Given the description of an element on the screen output the (x, y) to click on. 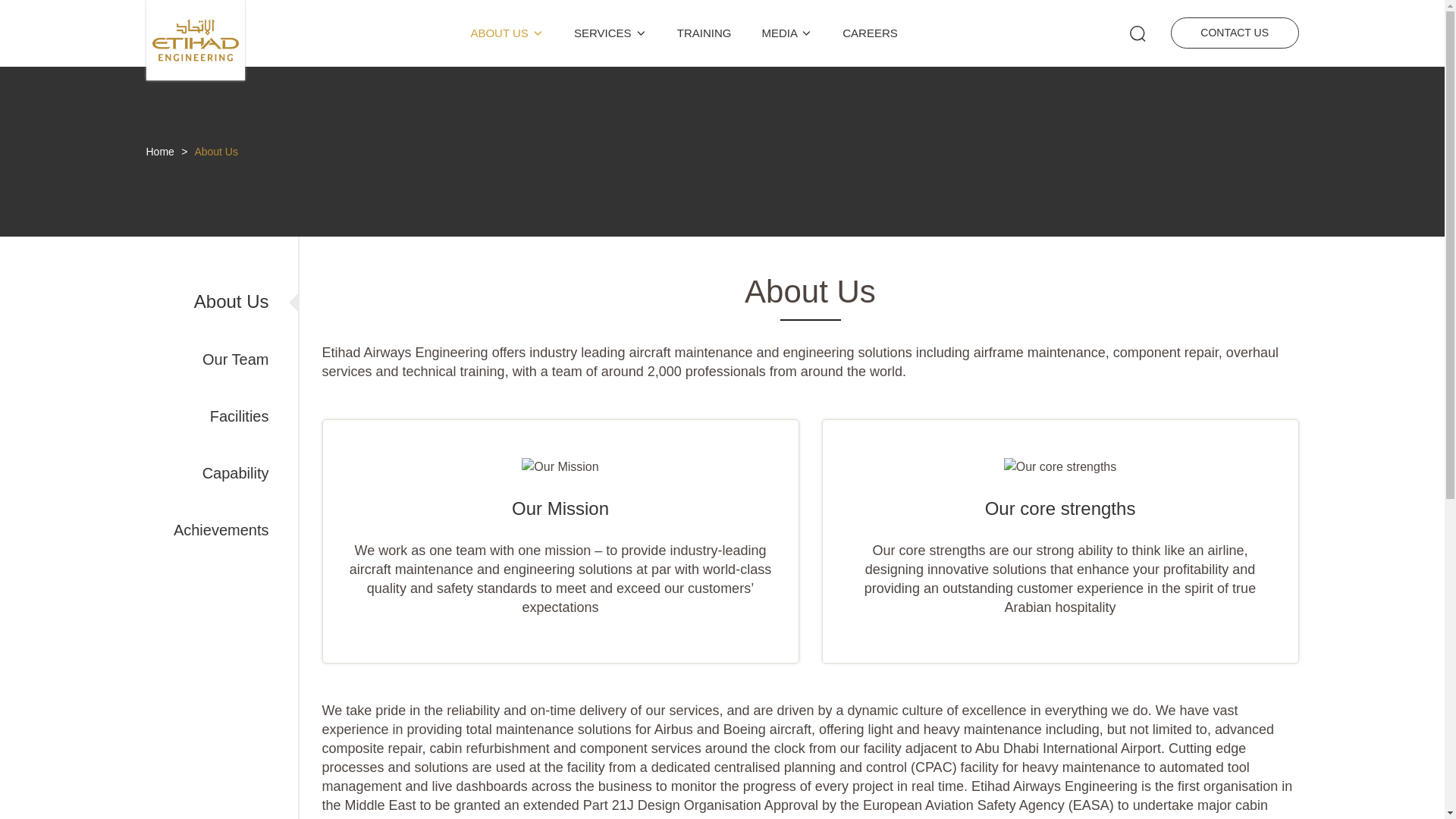
Our Team (234, 359)
ABOUT US (506, 33)
Capability (235, 473)
Achievements (221, 529)
TRAINING (704, 33)
Go to Home (194, 75)
CAREERS (870, 33)
MEDIA (786, 33)
Capability (235, 473)
Our Team (234, 359)
